Given the description of an element on the screen output the (x, y) to click on. 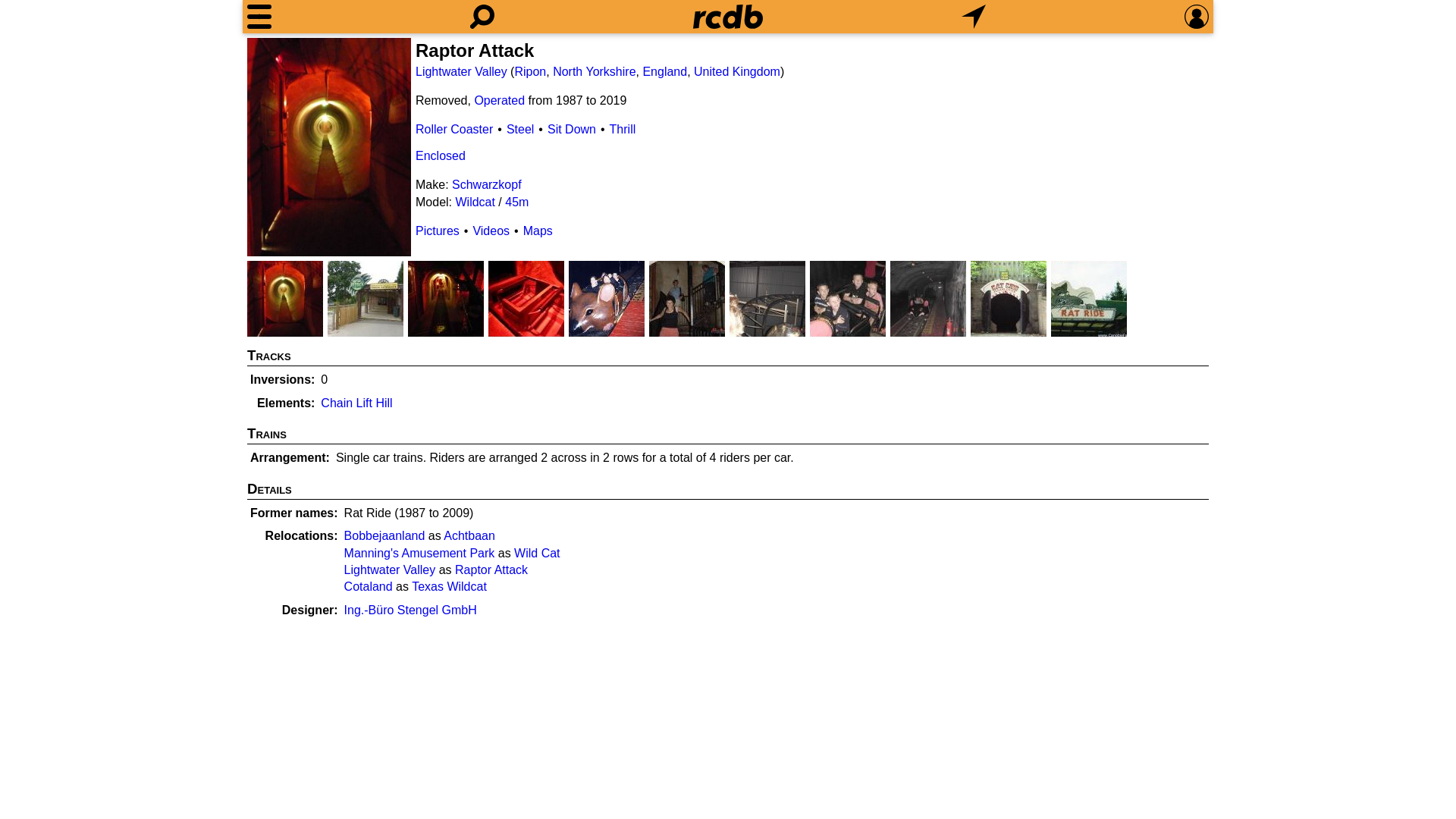
England (664, 71)
Cotaland (368, 585)
Raptor Attack (490, 569)
Operated (499, 100)
North Yorkshire (593, 71)
United Kingdom (737, 71)
45m (516, 201)
Texas Wildcat (449, 585)
Wild Cat (536, 553)
Lightwater Valley (460, 71)
Thrill (623, 128)
Achtbaan (469, 535)
Steel (520, 128)
Schwarzkopf (486, 184)
Sit Down (571, 128)
